Given the description of an element on the screen output the (x, y) to click on. 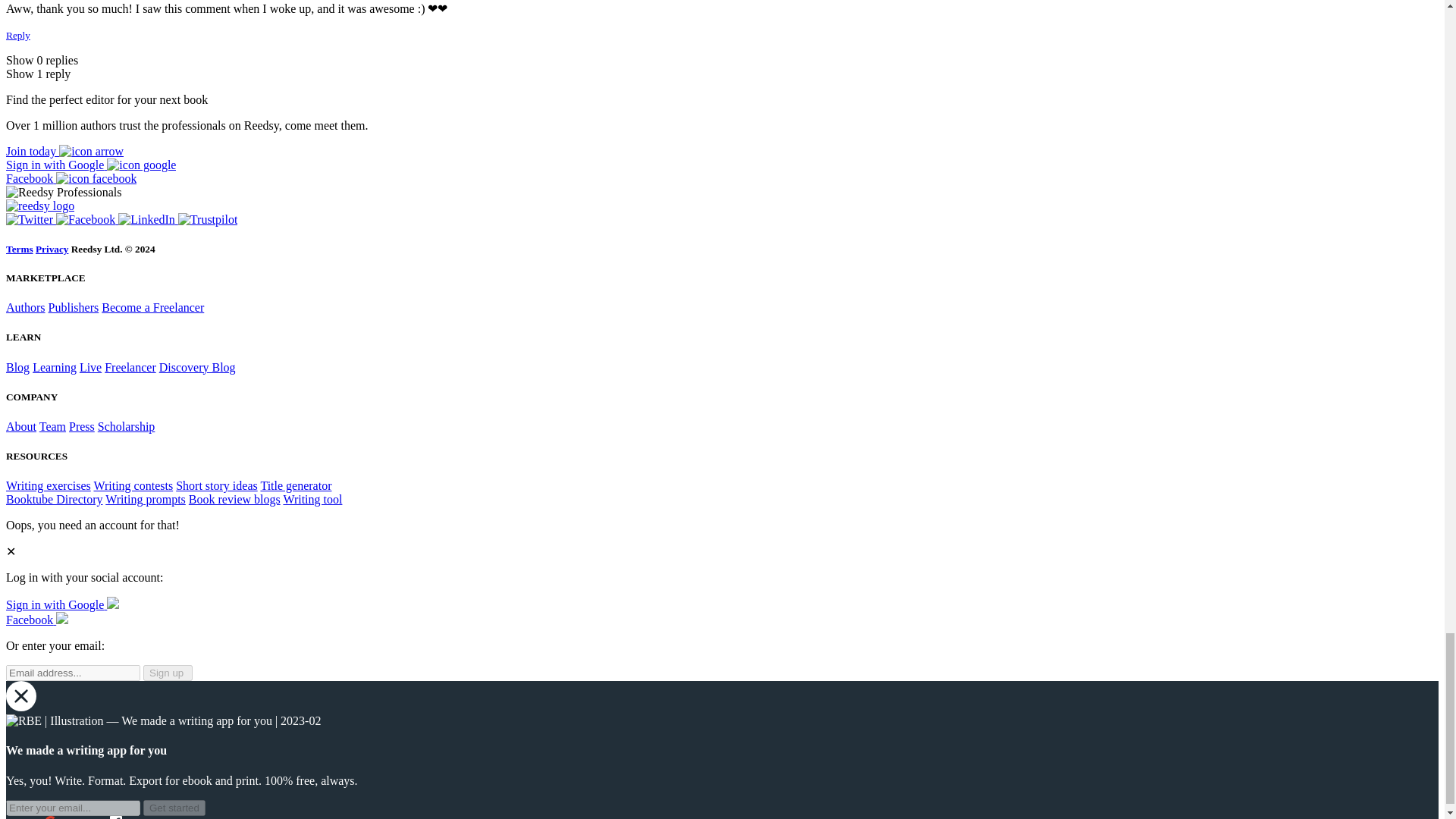
Get started (173, 807)
Sign up  (167, 672)
Sign in with Google (90, 164)
LinkedIn (147, 219)
Sign up (64, 151)
Twitter (30, 219)
Sign in with Google (62, 604)
Trustpilot (207, 219)
Sign in with Facebook (36, 619)
Sign in with Facebook (70, 178)
